Given the description of an element on the screen output the (x, y) to click on. 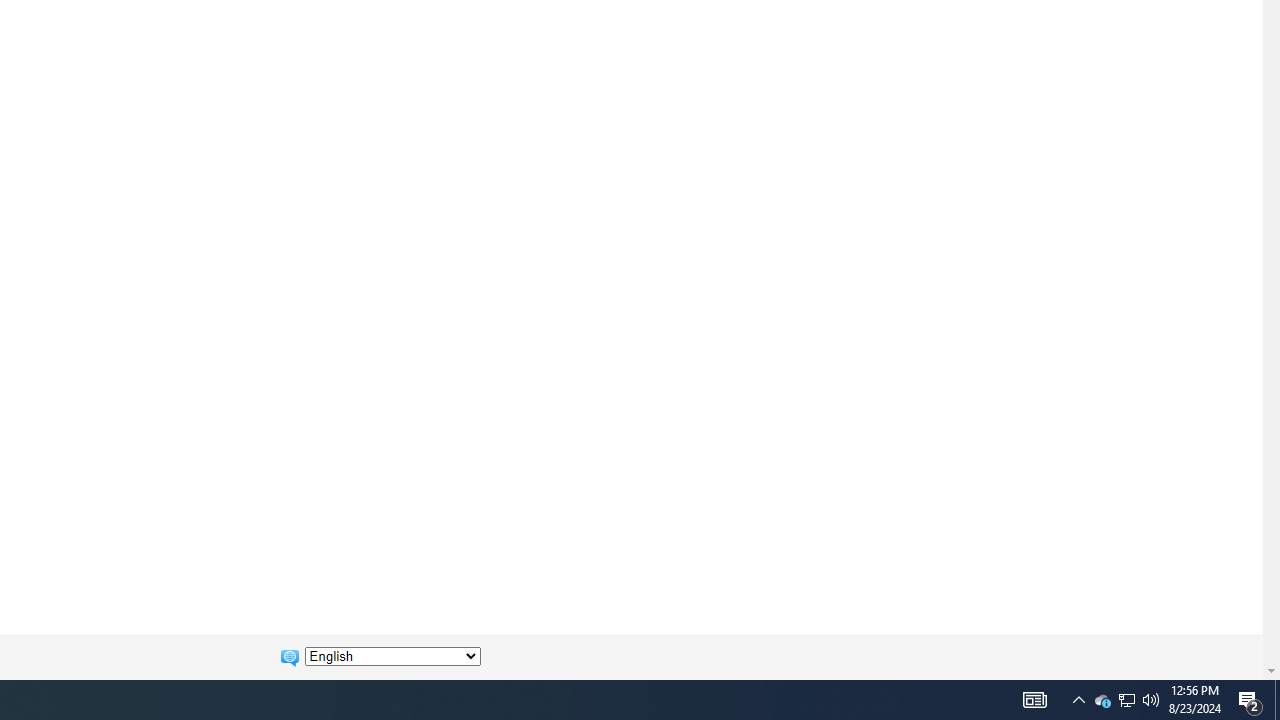
Change language: (392, 656)
